Given the description of an element on the screen output the (x, y) to click on. 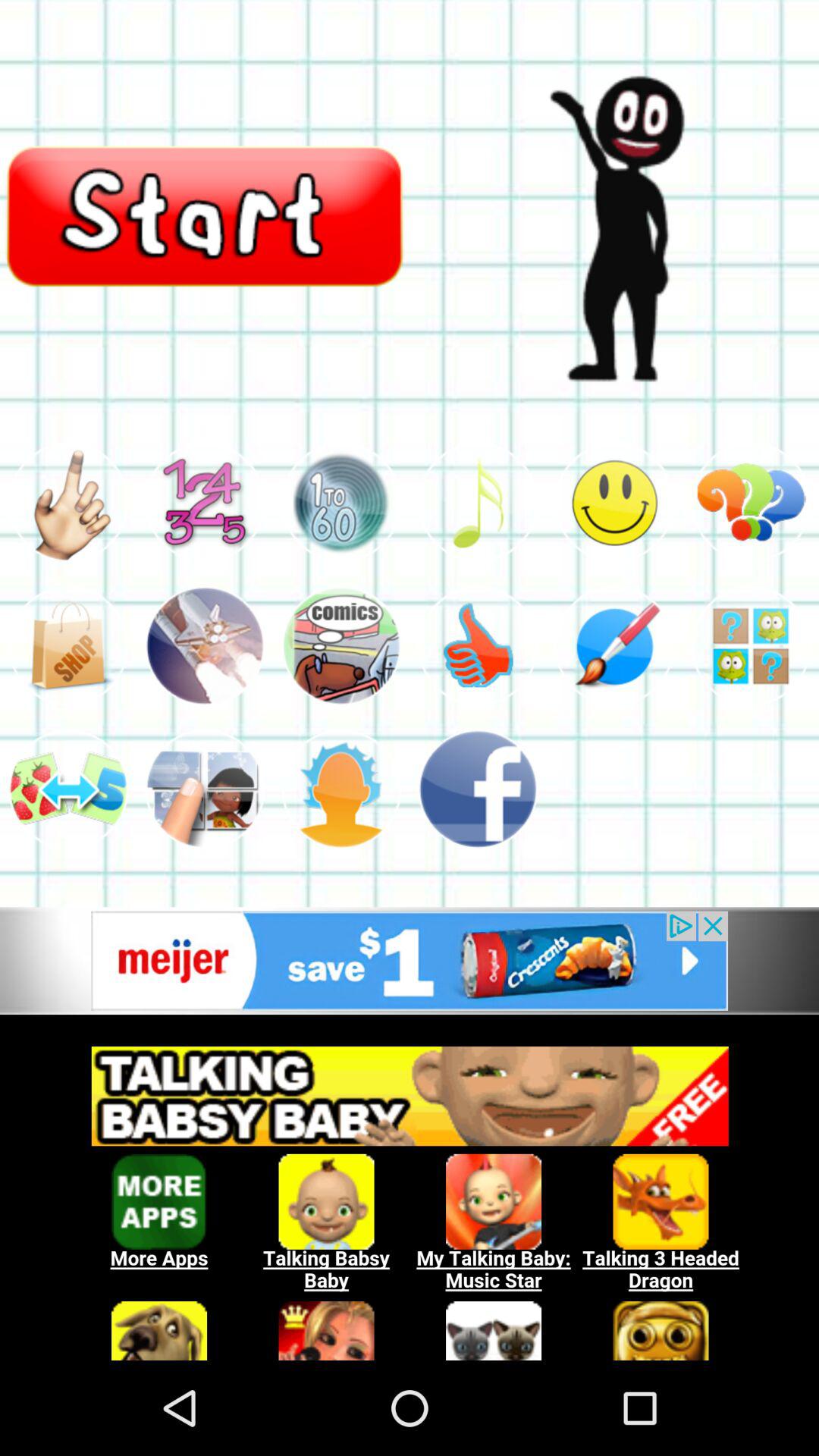
start (204, 215)
